Given the description of an element on the screen output the (x, y) to click on. 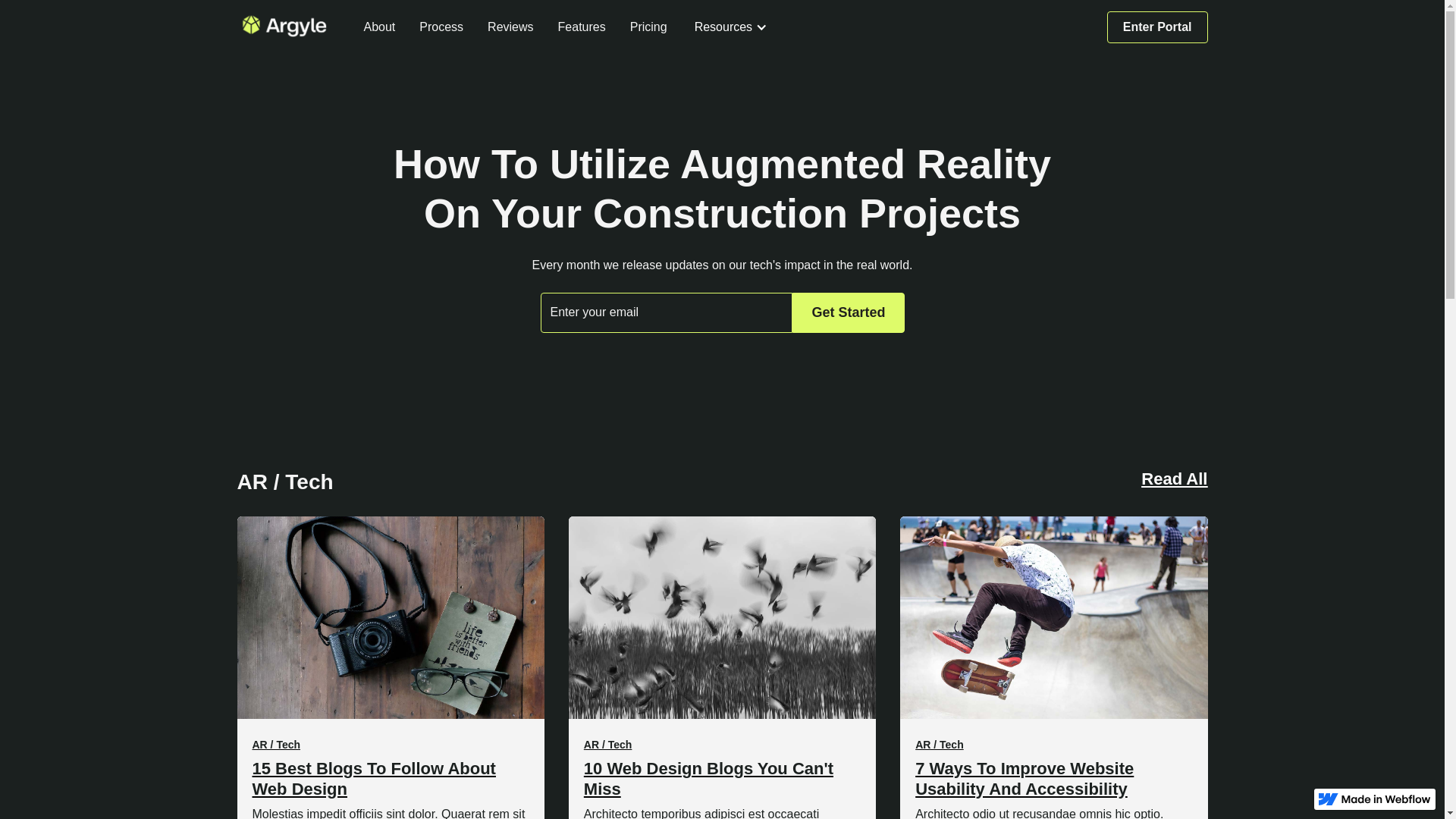
Read All Element type: text (1174, 482)
Pricing Element type: text (648, 27)
Get Started Element type: text (847, 312)
Process Element type: text (441, 27)
About Element type: text (379, 27)
Enter Portal Element type: text (1157, 27)
Features Element type: text (582, 27)
Reviews Element type: text (510, 27)
